Given the description of an element on the screen output the (x, y) to click on. 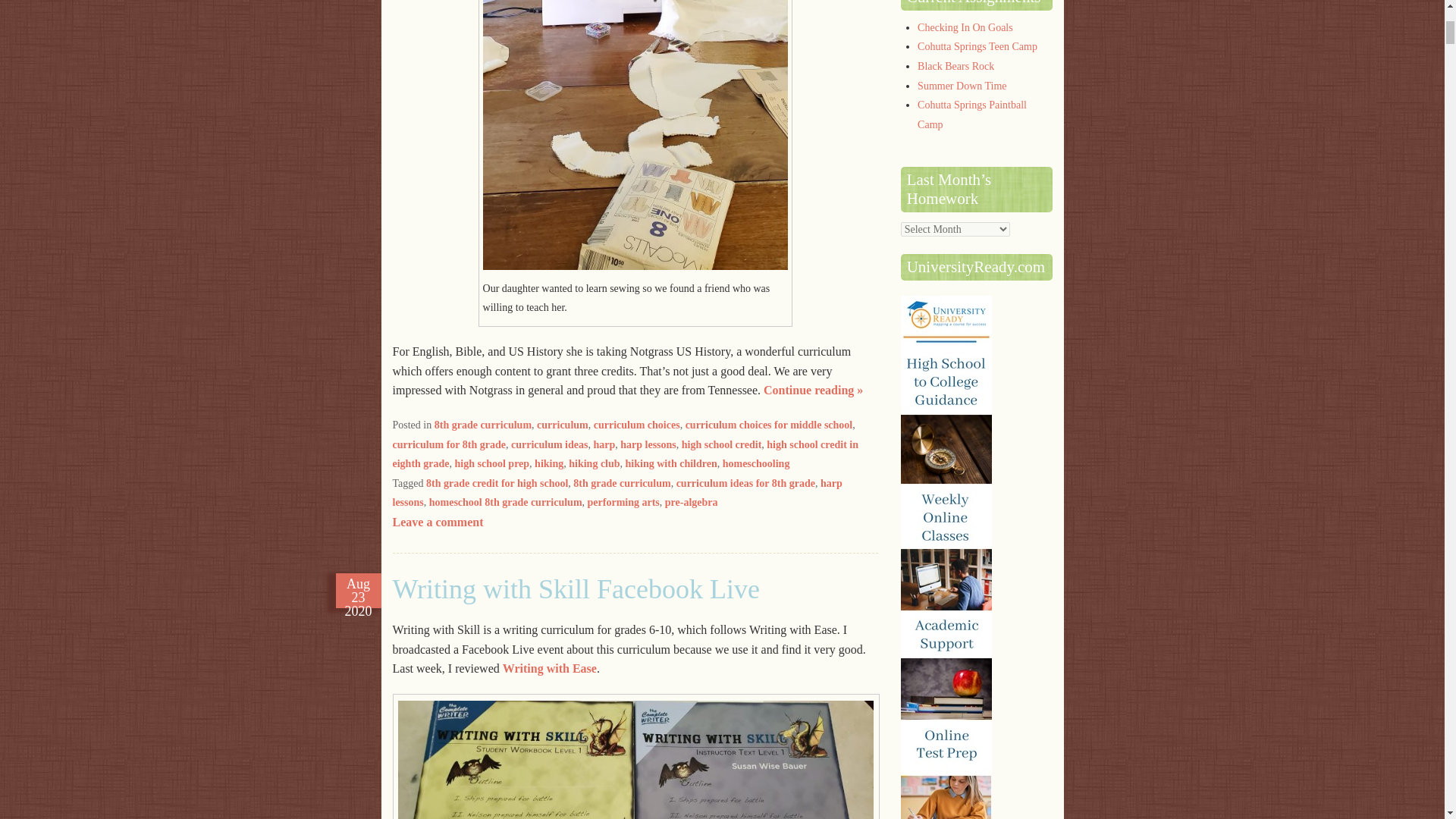
Permalink to Writing with Skill Facebook Live (576, 589)
Permanent Link to Writing with Skill Facebook Live (358, 590)
